Given the description of an element on the screen output the (x, y) to click on. 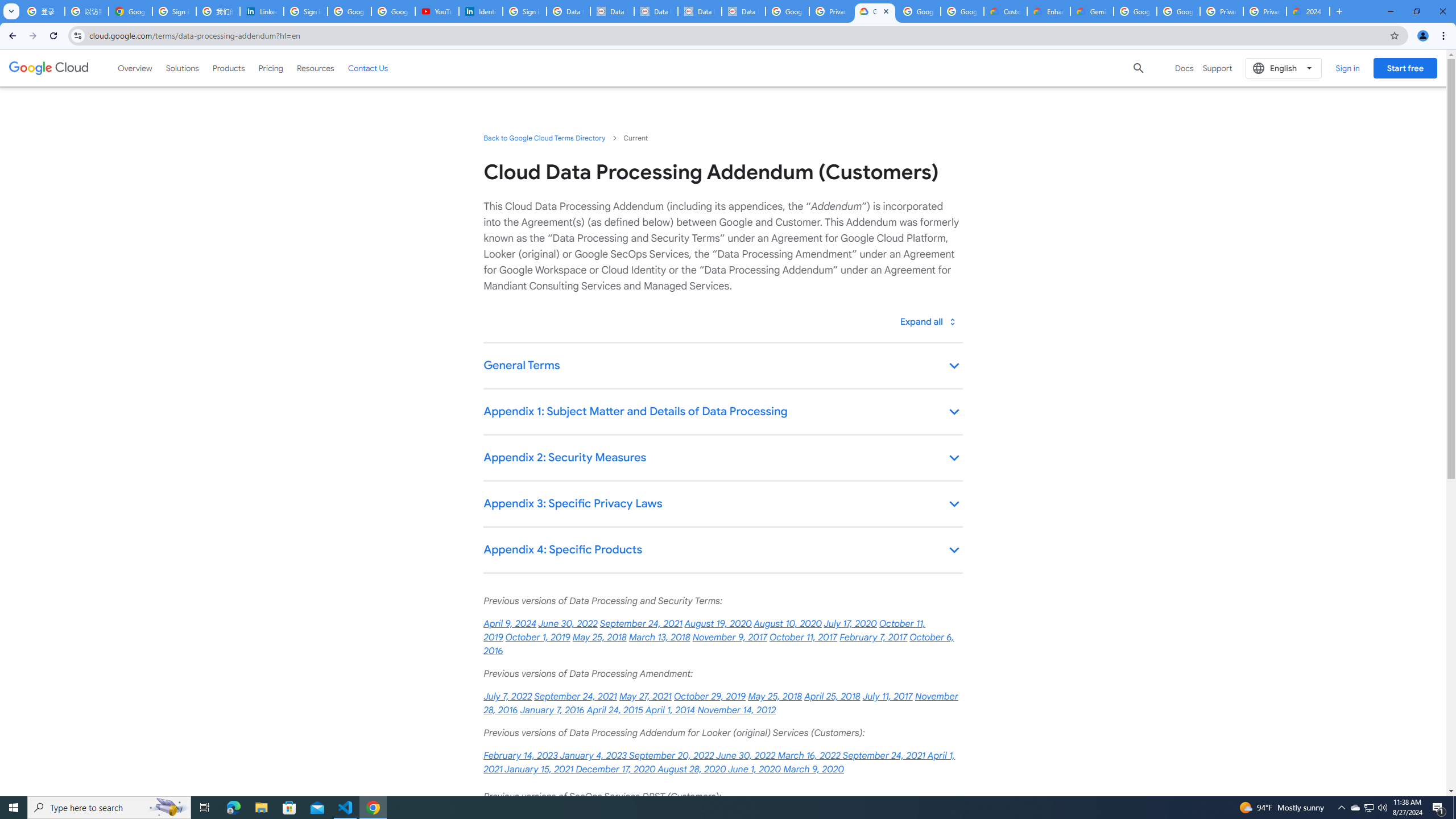
Data Privacy Framework (743, 11)
April 25, 2018 (831, 696)
April 9, 2024 (510, 623)
Appendix 2: Security Measures keyboard_arrow_down (722, 458)
May 25, 2018 (775, 696)
November 9, 2017 (729, 637)
